Given the description of an element on the screen output the (x, y) to click on. 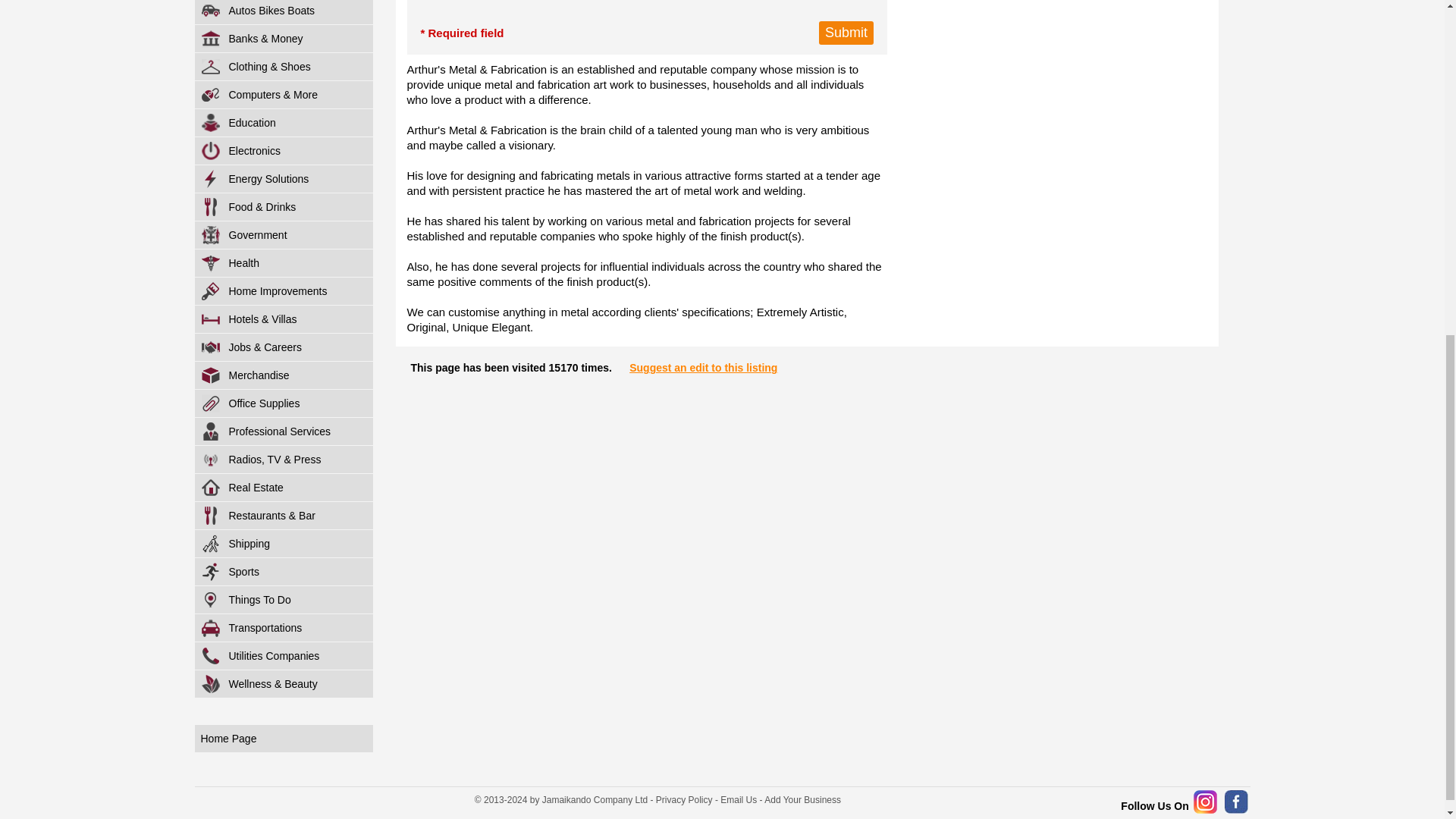
Submit (845, 33)
